Given the description of an element on the screen output the (x, y) to click on. 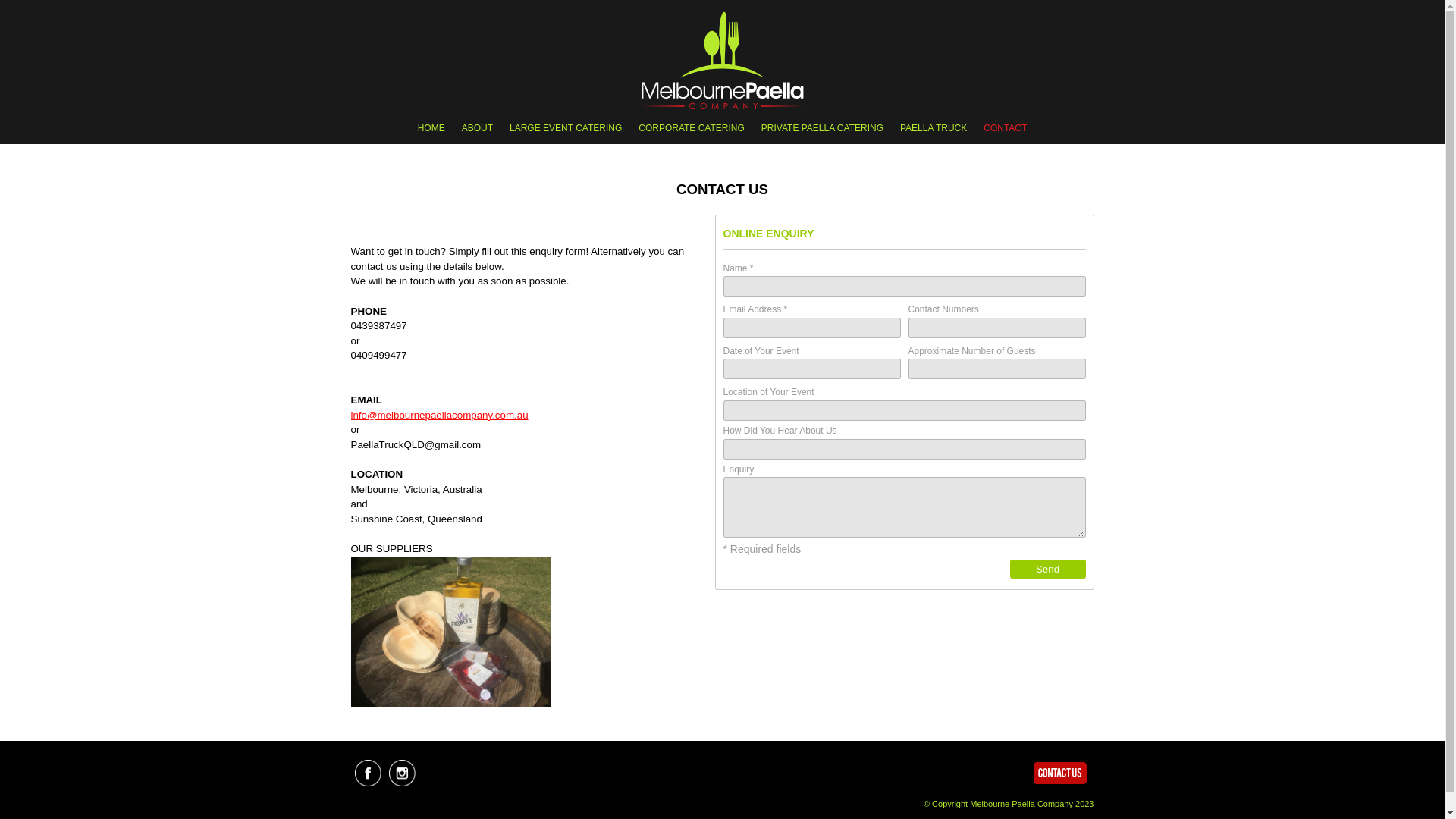
PRIVATE PAELLA CATERING Element type: text (822, 128)
LARGE EVENT CATERING Element type: text (565, 128)
info@melbournepaellacompany.com.au Element type: text (438, 414)
CORPORATE CATERING Element type: text (691, 128)
ABOUT Element type: text (477, 128)
CONTACT Element type: text (1004, 128)
Send Element type: text (1047, 568)
PAELLA TRUCK Element type: text (933, 128)
HOME Element type: text (431, 128)
